Given the description of an element on the screen output the (x, y) to click on. 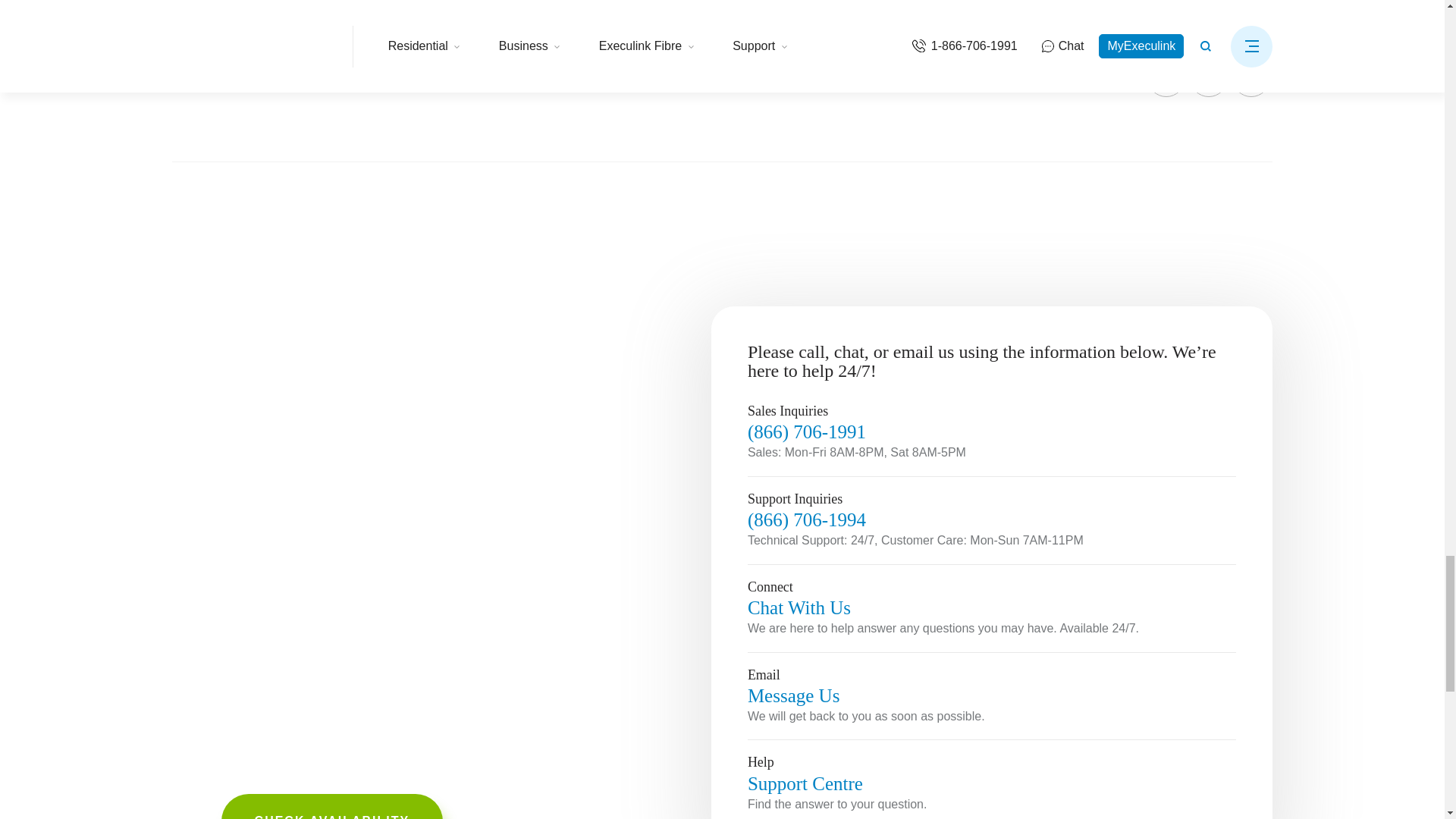
Facebook (1166, 77)
Twitter (1208, 77)
LinkedIn (1250, 77)
